Given the description of an element on the screen output the (x, y) to click on. 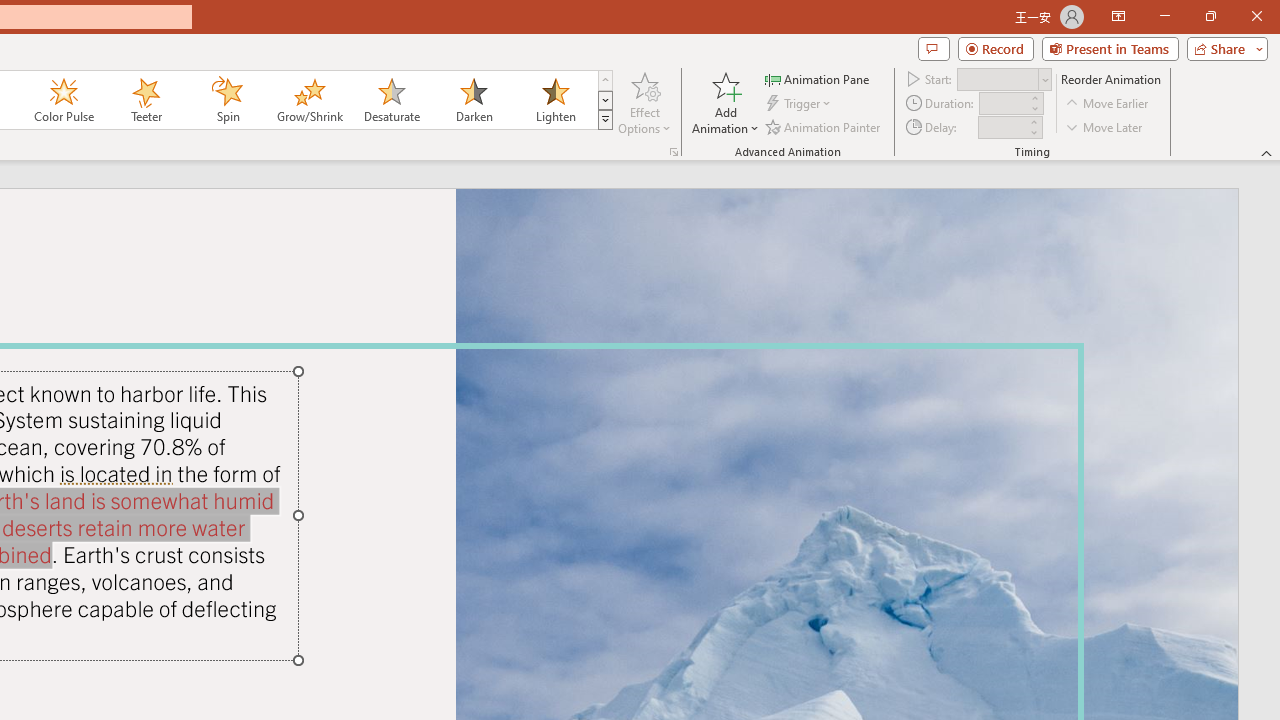
Lighten (555, 100)
Ribbon Display Options (1118, 16)
Restore Down (1210, 16)
Open (1044, 79)
Move Later (1105, 126)
Move Earlier (1107, 103)
Trigger (799, 103)
More (1033, 121)
Animation Delay (1002, 127)
Row up (605, 79)
Add Animation (725, 102)
Spin (227, 100)
Darken (473, 100)
